Given the description of an element on the screen output the (x, y) to click on. 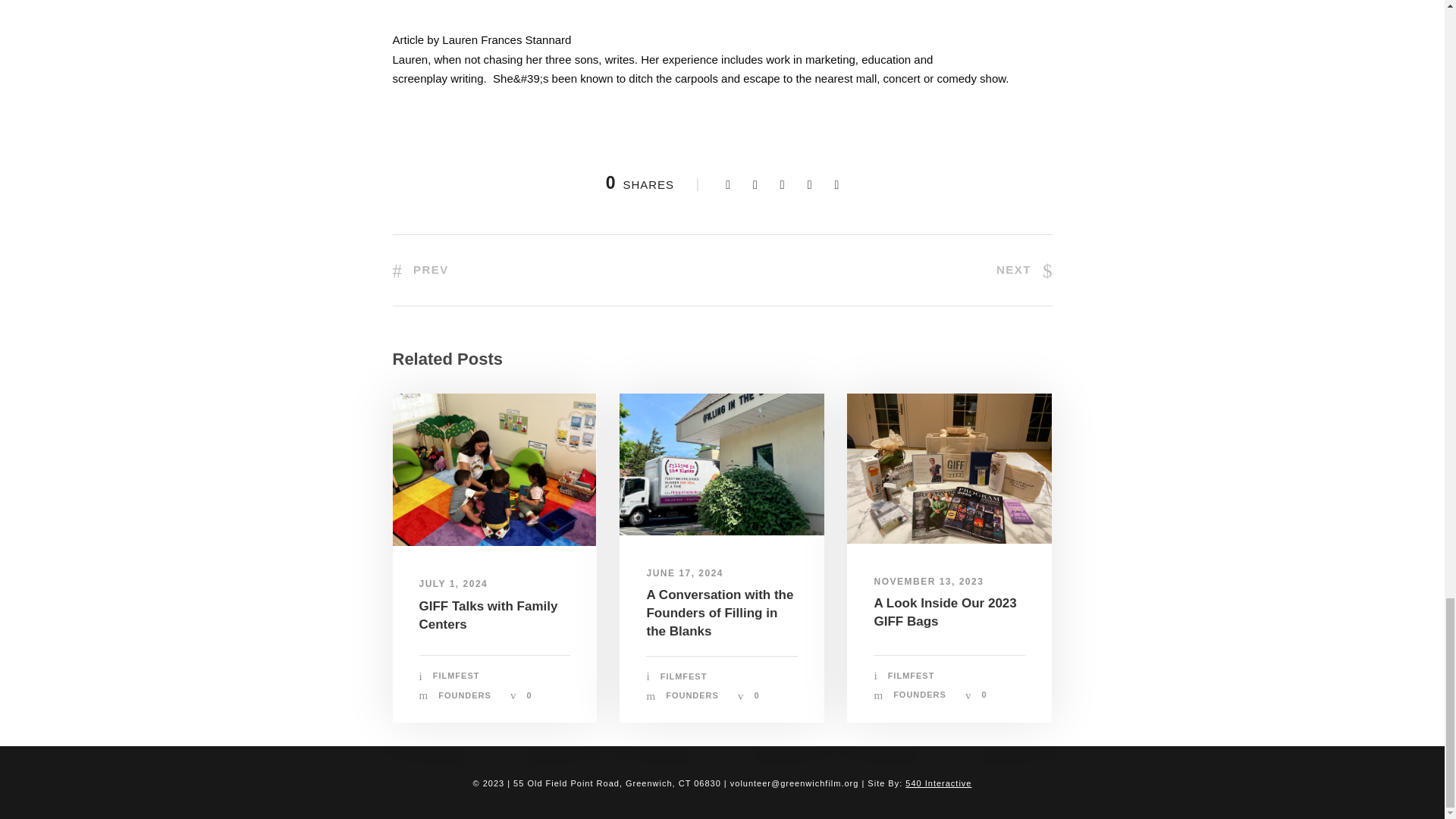
Posts by filmfest (684, 675)
FAMILY CENTERS BLOG Photo 1 (494, 469)
Screenshot 2024-06-17 at 1.25.10 PM (722, 463)
Screenshot 2023-11-13 at 1.51.40 PM (949, 468)
Posts by filmfest (456, 675)
Posts by filmfest (911, 675)
